Given the description of an element on the screen output the (x, y) to click on. 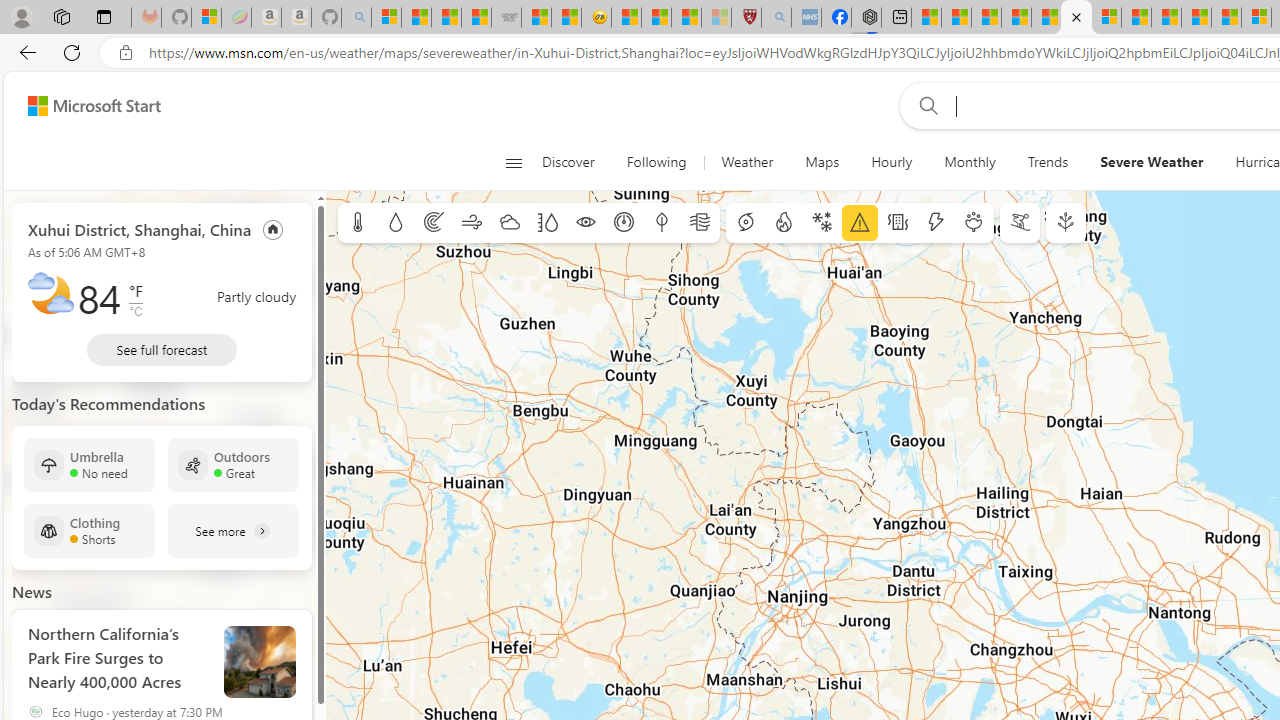
Trends (1047, 162)
Dew point (661, 223)
Radar (433, 223)
Air quality (700, 223)
Clouds (509, 223)
Earthquake (898, 223)
